Given the description of an element on the screen output the (x, y) to click on. 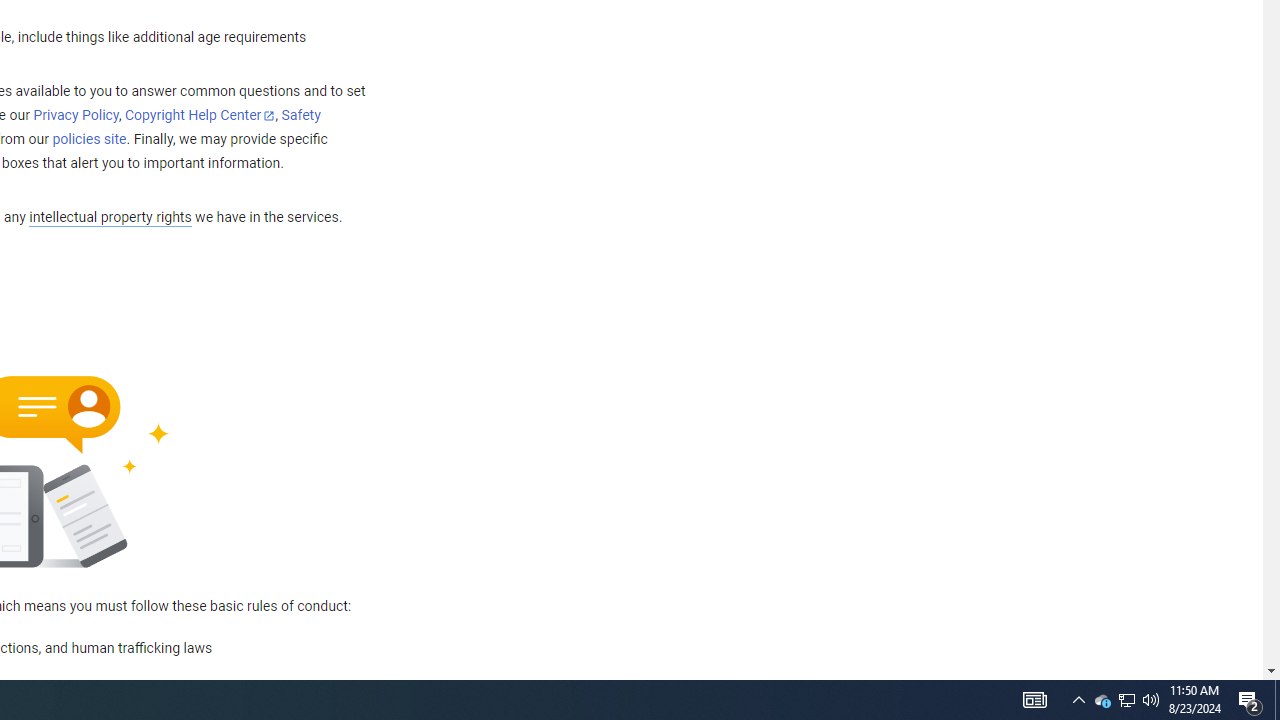
Copyright Help Center (200, 116)
policies site (89, 140)
intellectual property rights (110, 218)
